Given the description of an element on the screen output the (x, y) to click on. 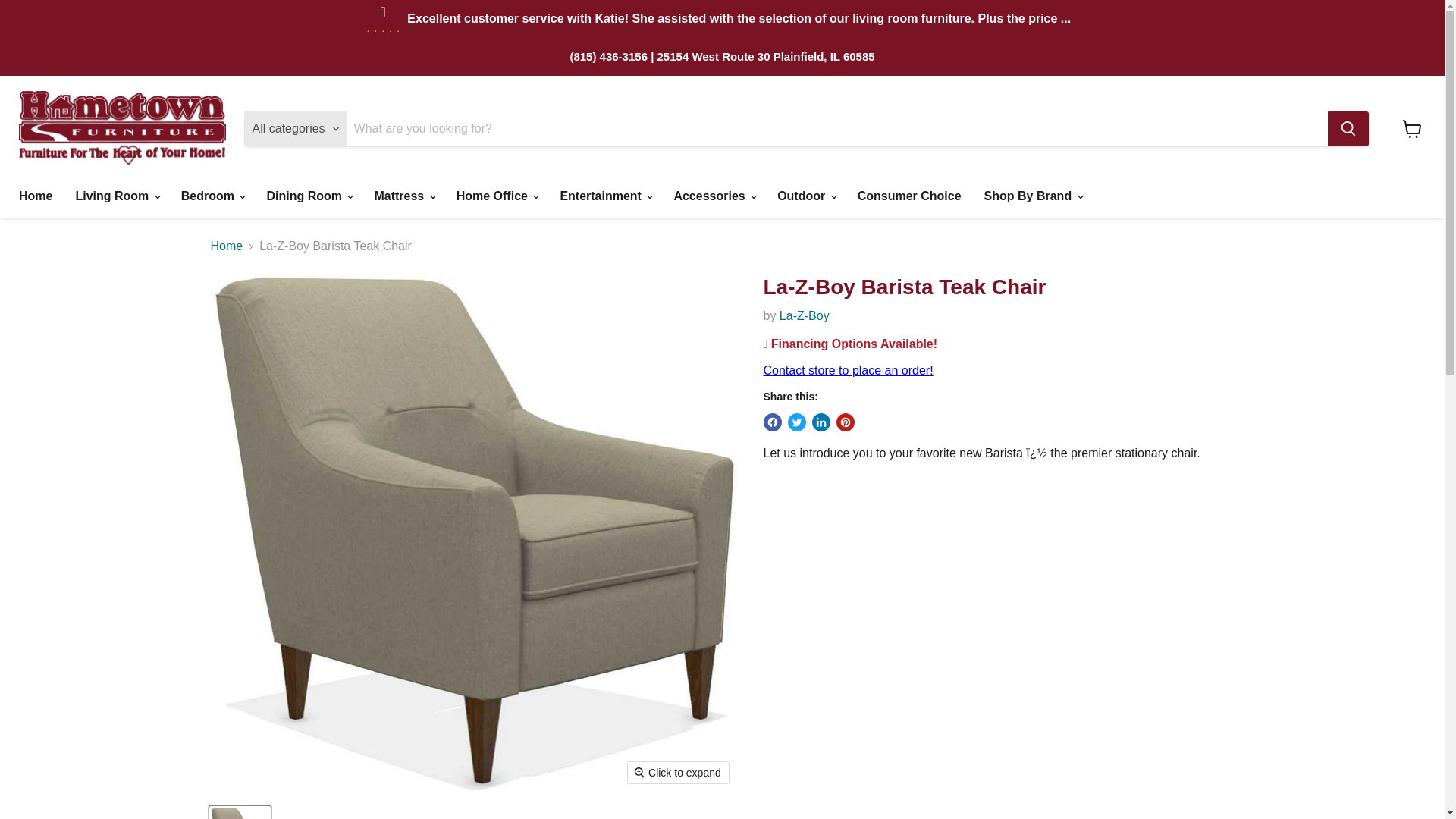
View cart (1411, 128)
Home (35, 196)
La-Z-Boy (803, 315)
